Given the description of an element on the screen output the (x, y) to click on. 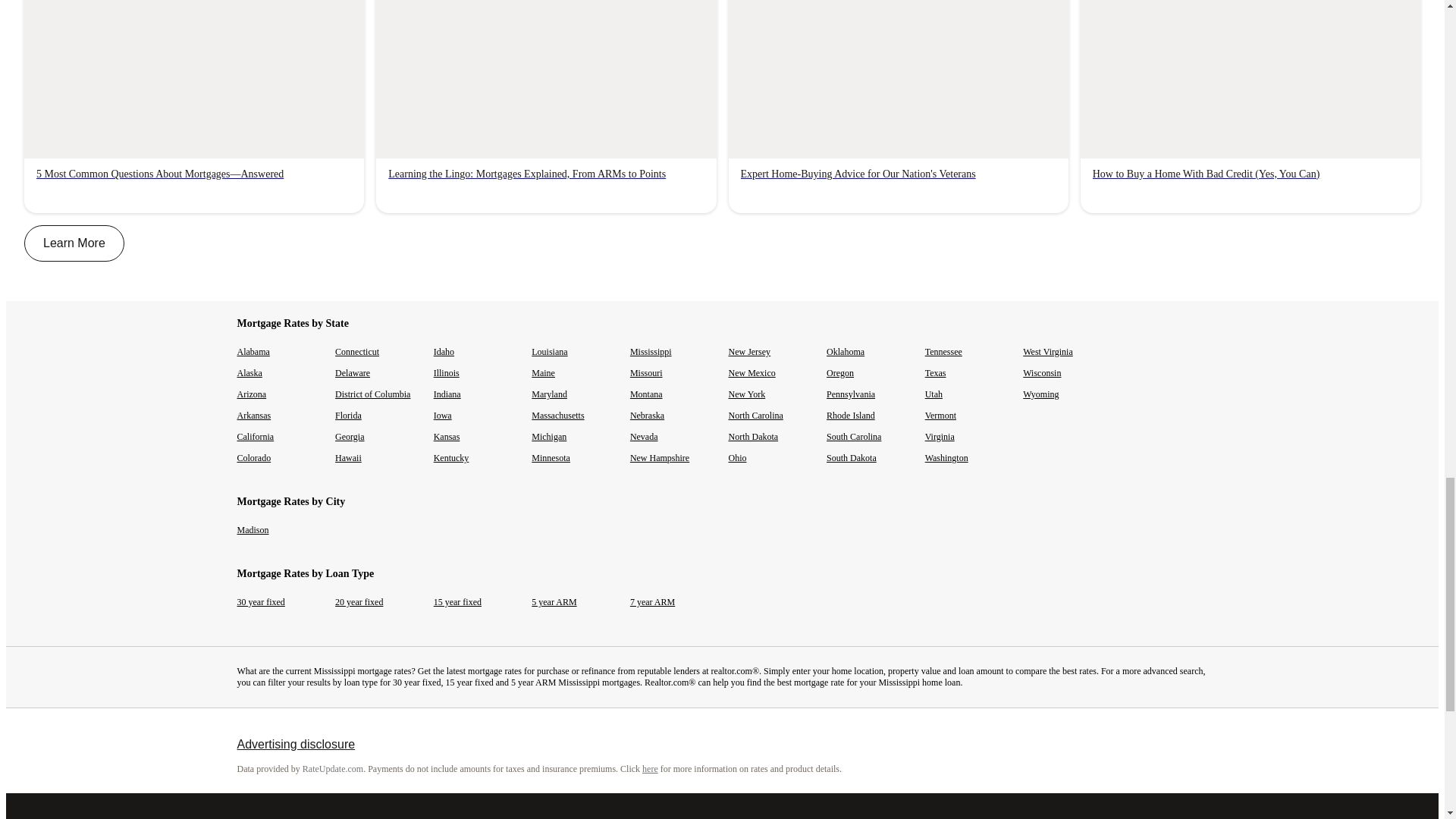
Arizona (250, 394)
Illinois (446, 372)
Indiana (447, 394)
Alaska (248, 372)
Idaho (443, 351)
Connecticut (356, 351)
Florida (347, 415)
California (254, 436)
Delaware (351, 372)
Hawaii (347, 457)
